Given the description of an element on the screen output the (x, y) to click on. 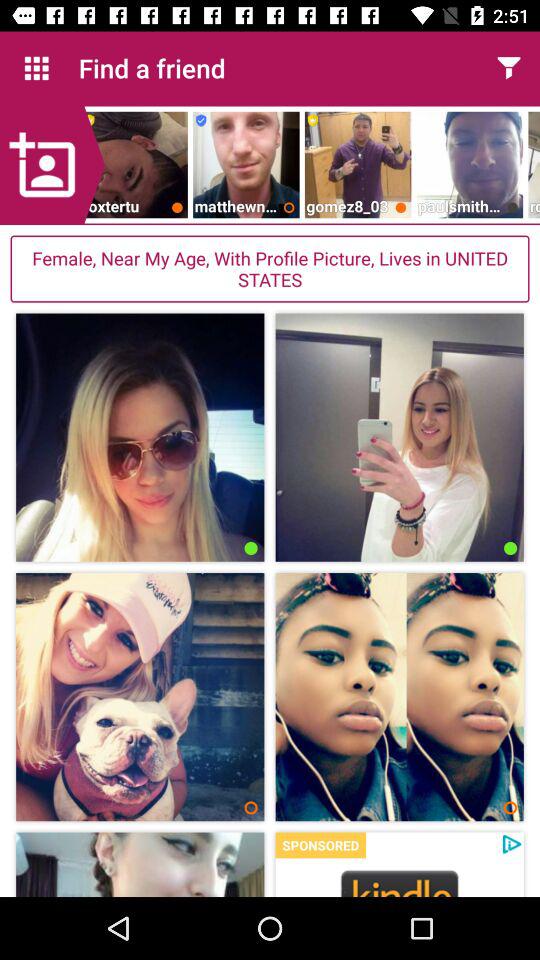
select the female near my icon (269, 268)
